Given the description of an element on the screen output the (x, y) to click on. 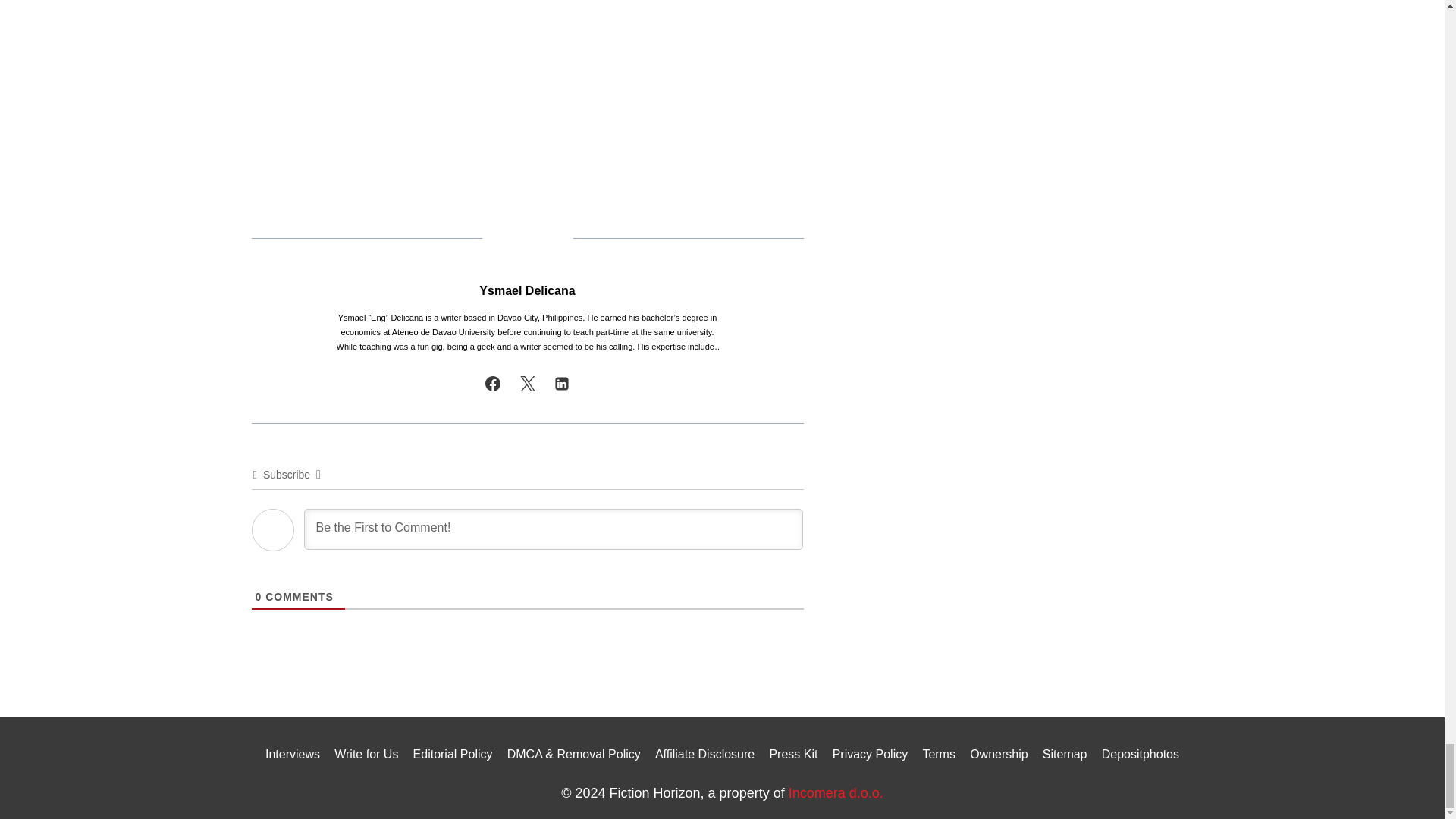
Follow Ysmael Delicana on Facebook (492, 383)
Follow Ysmael Delicana on X formerly Twitter (527, 383)
Posts by Ysmael Delicana (527, 290)
Incomera d.o.o. (836, 792)
Follow Ysmael Delicana on Linkedin (561, 383)
